Given the description of an element on the screen output the (x, y) to click on. 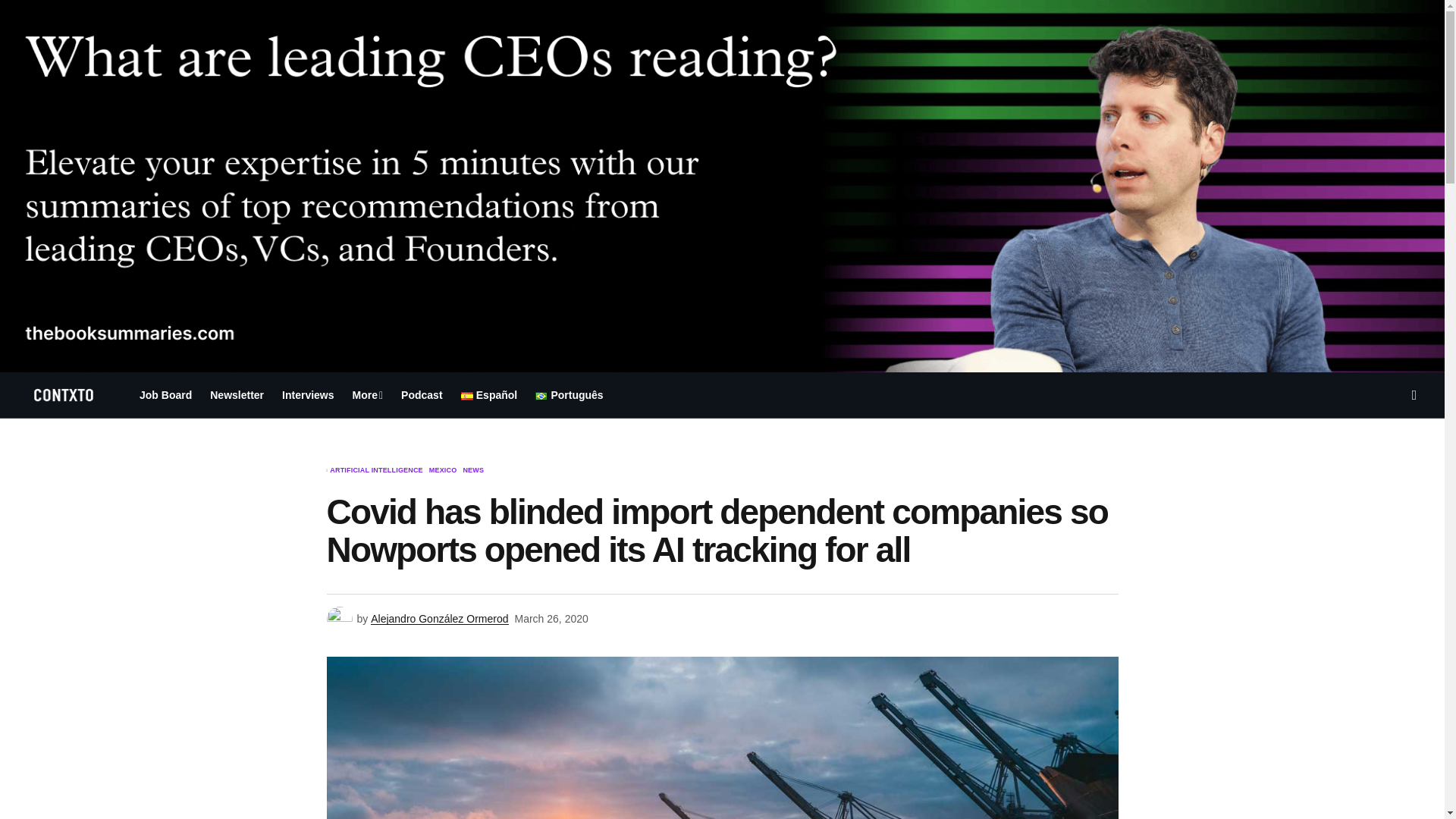
ARTIFICIAL INTELLIGENCE (376, 470)
Newsletter (236, 394)
Job Board (165, 394)
NEWS (473, 470)
More (368, 394)
MEXICO (443, 470)
Interviews (307, 394)
Podcast (421, 394)
